Given the description of an element on the screen output the (x, y) to click on. 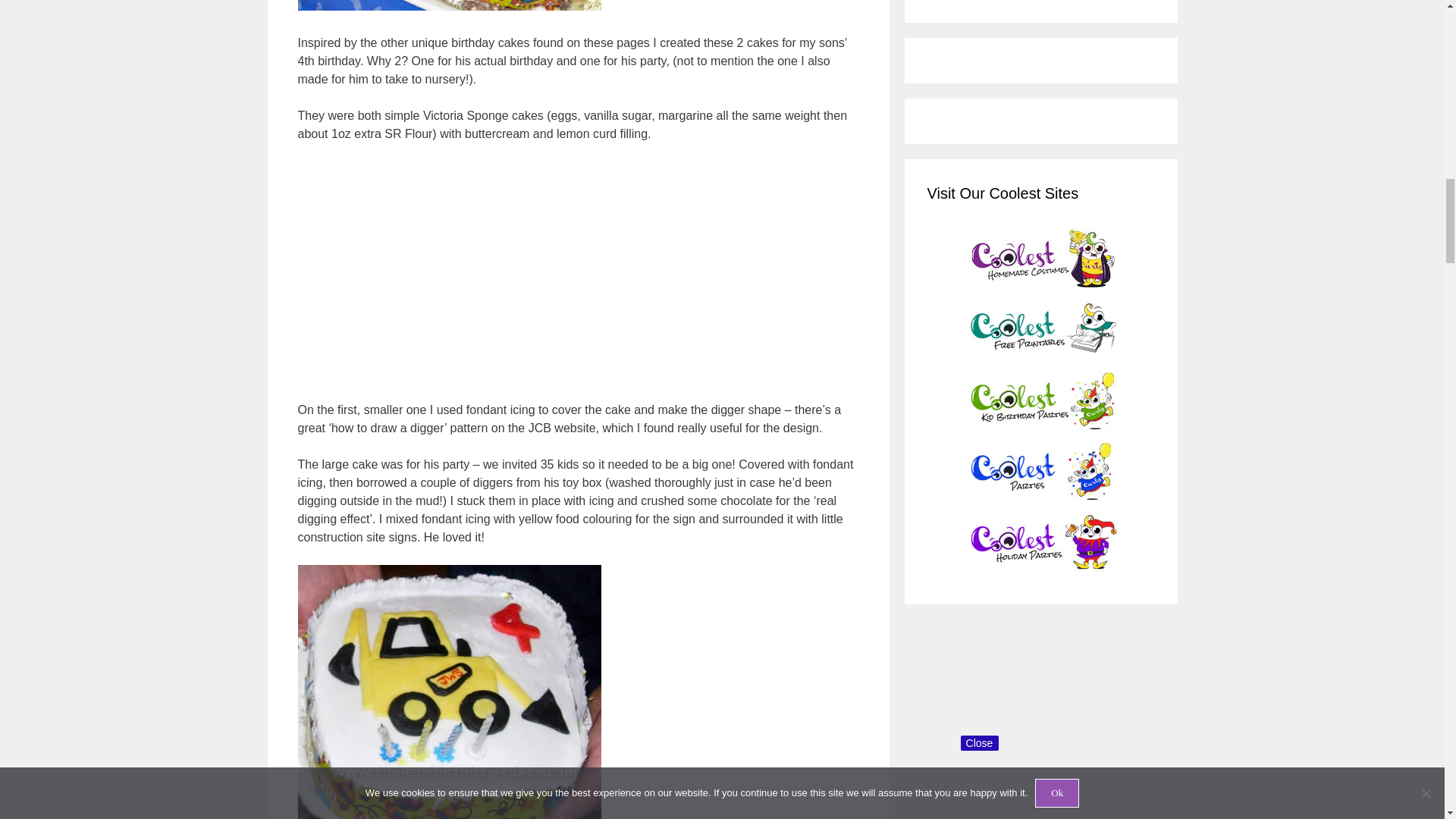
3rd party ad content (576, 272)
